Given the description of an element on the screen output the (x, y) to click on. 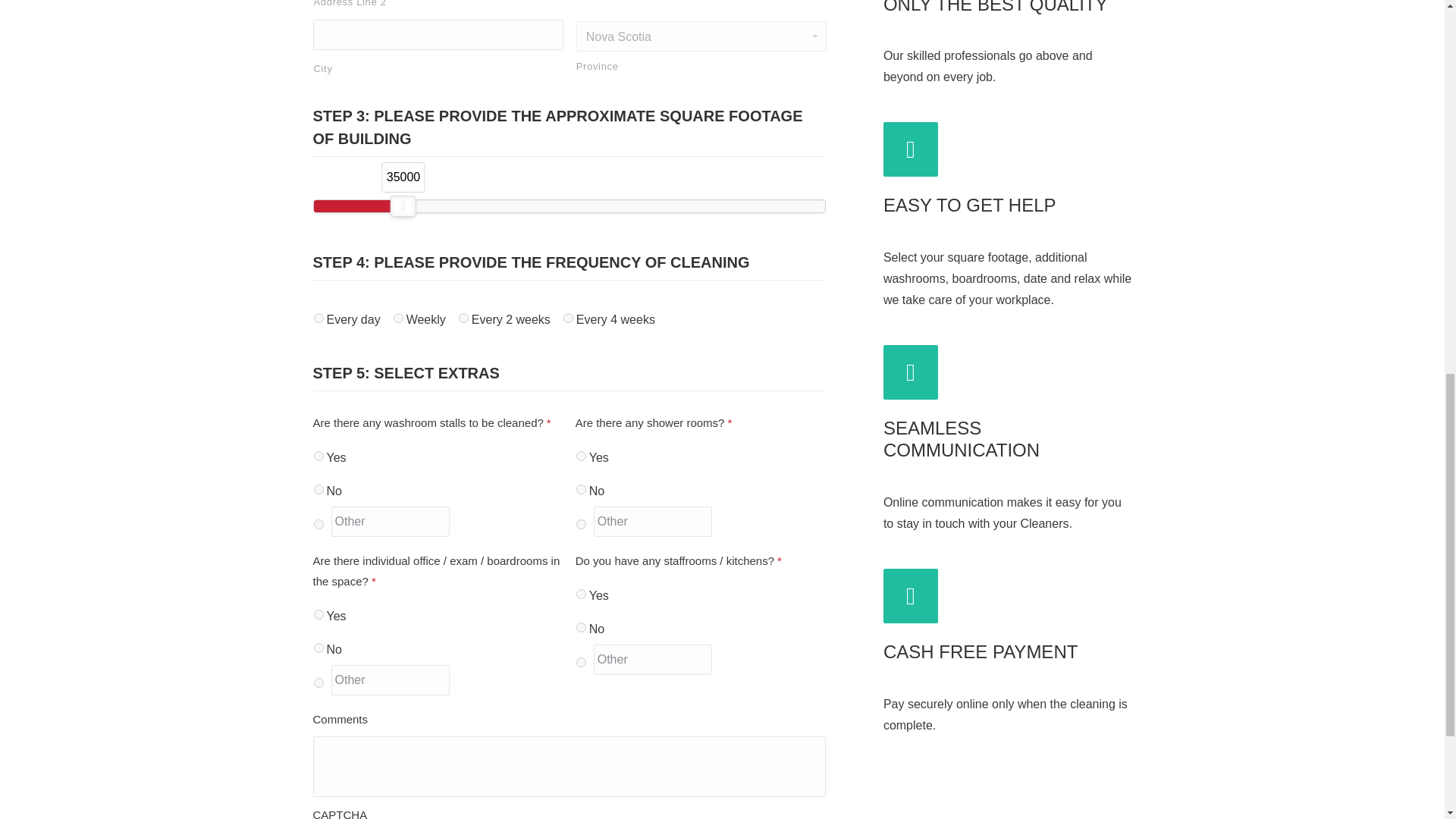
Every day (318, 317)
Other (389, 521)
Every 2 weeks (463, 317)
No (318, 488)
Yes (318, 455)
Yes (318, 614)
Yes (581, 455)
No (581, 488)
Every 4 weeks (568, 317)
Other (653, 521)
Weekly (398, 317)
